Given the description of an element on the screen output the (x, y) to click on. 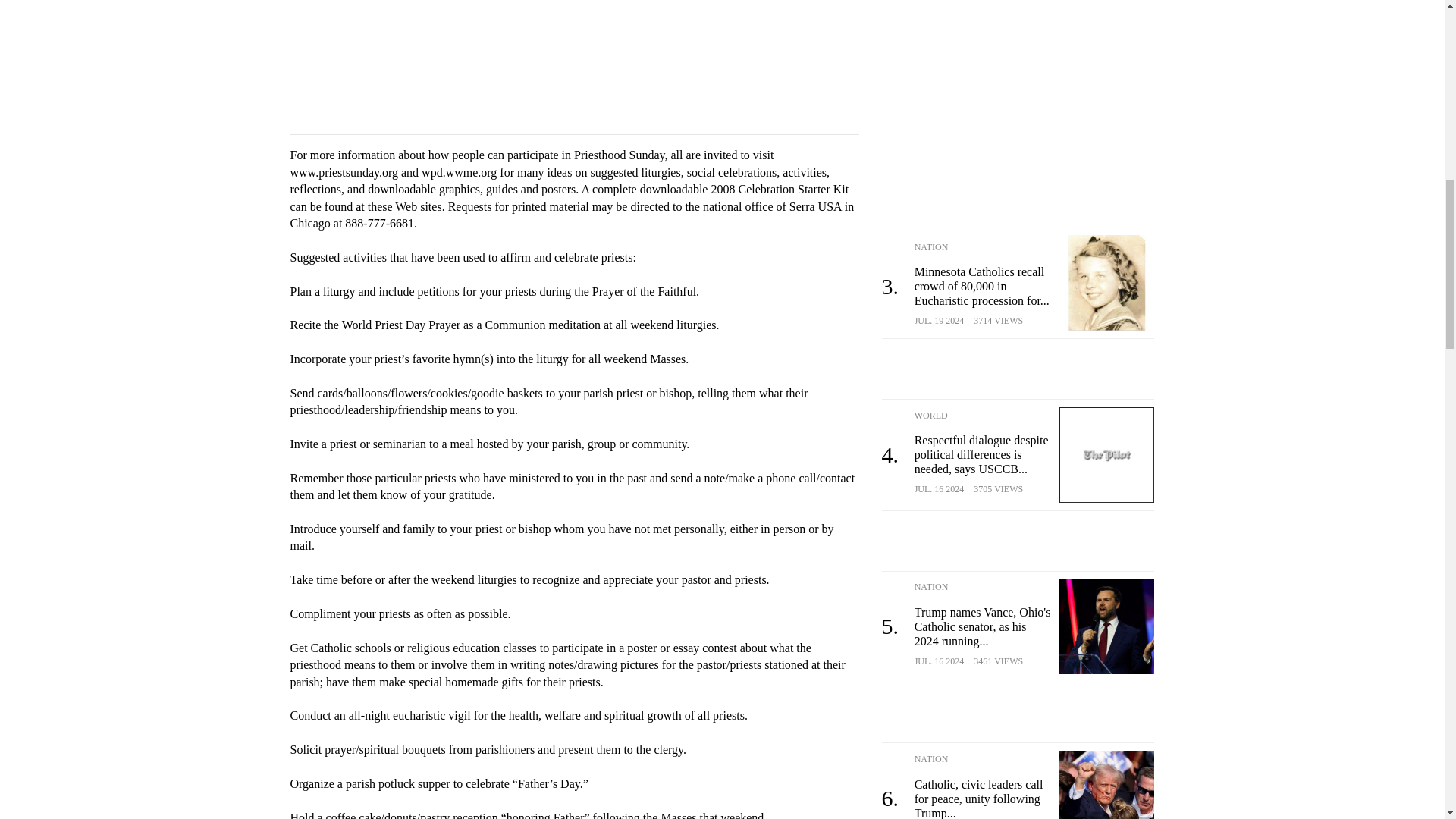
3rd party ad content (1017, 105)
